Given the description of an element on the screen output the (x, y) to click on. 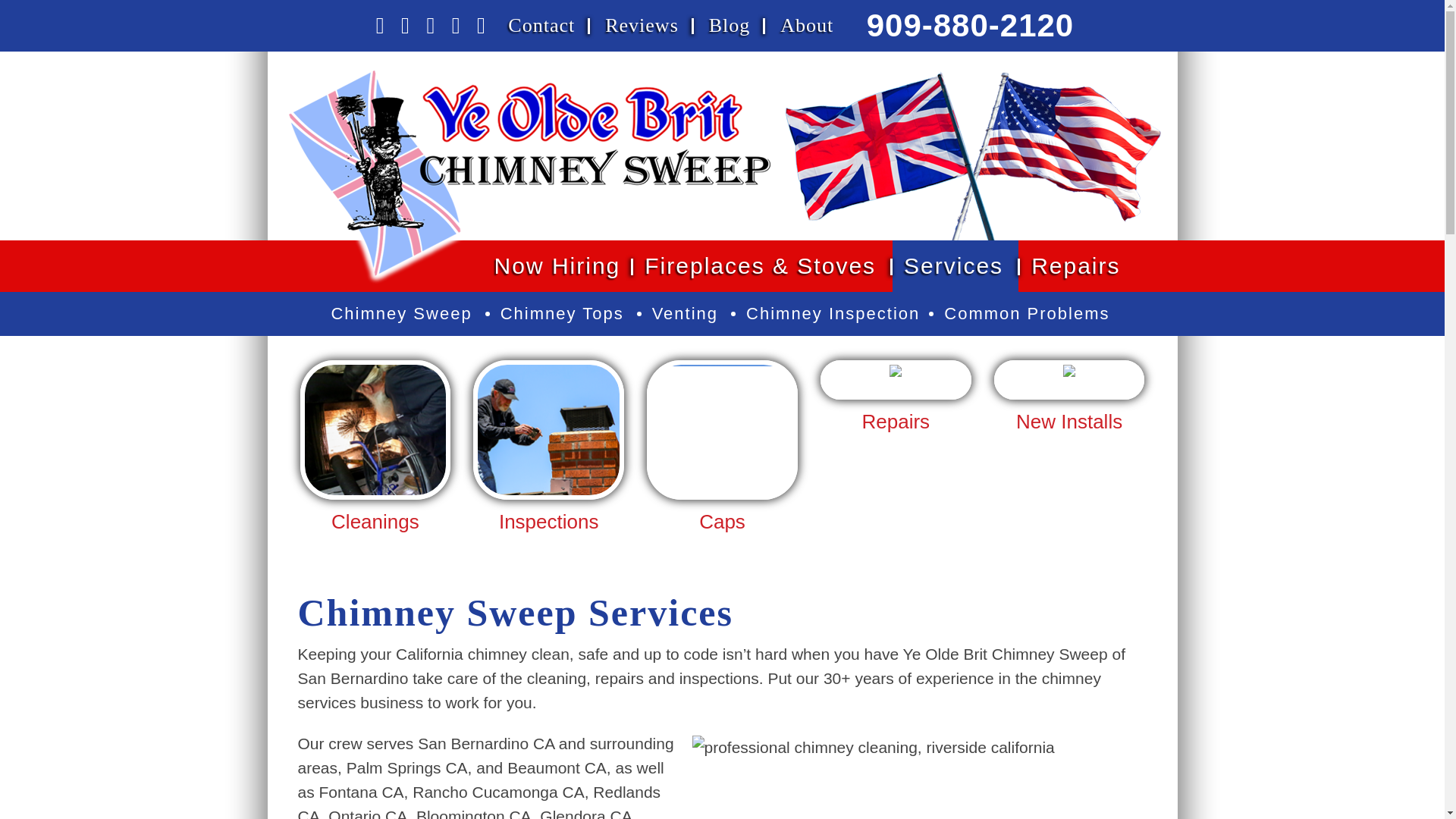
Chimney Tops (564, 313)
Services (954, 265)
Now Hiring (557, 265)
Chimney Inspection (833, 313)
Common Problems (1028, 313)
About (806, 25)
Chimney Sweep (402, 313)
909-880-2120 (970, 25)
Contact (541, 25)
.Ye Olde Brit Chimney Sweep (529, 177)
